Given the description of an element on the screen output the (x, y) to click on. 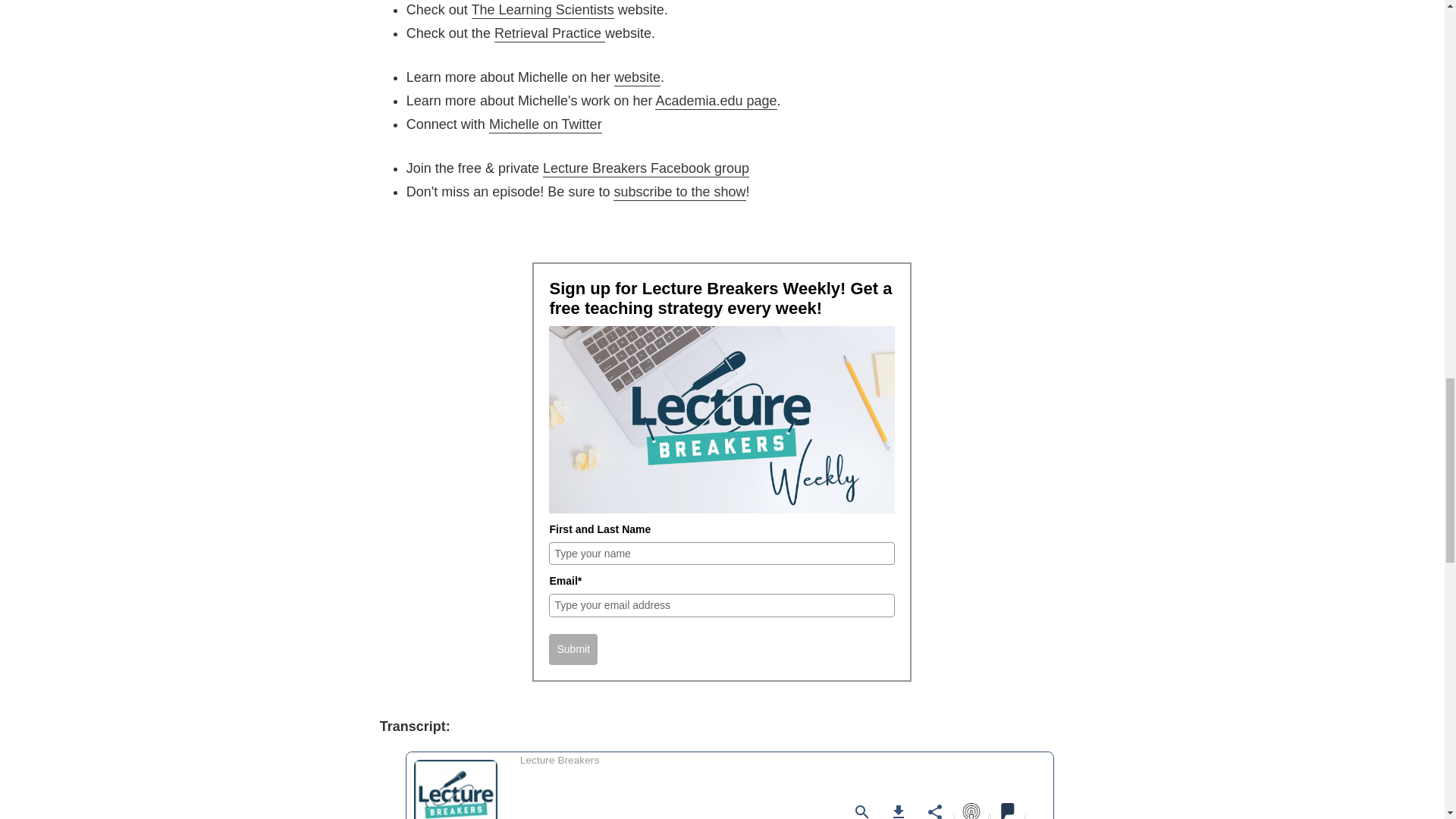
website (637, 77)
Submit (572, 649)
lecture breakers teaching and learning podcast  (542, 10)
The Learning Scientists (542, 10)
Lecture Breakers Facebook group (646, 168)
Academia.edu page (715, 101)
Retrieval Practice (550, 33)
subscribe to the show (678, 192)
Michelle on Twitter (586, 135)
